Given the description of an element on the screen output the (x, y) to click on. 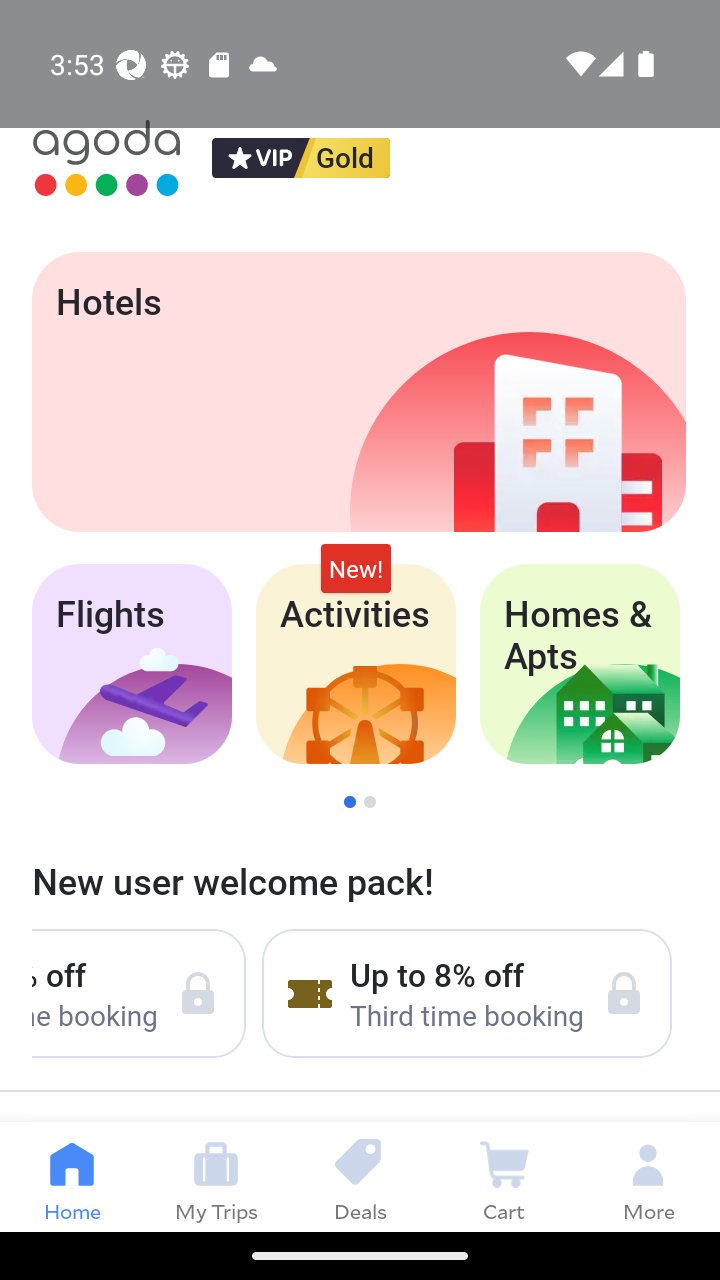
Hotels (358, 392)
New! (355, 568)
Flights (131, 664)
Activities (355, 664)
Homes & Apts (579, 664)
Home (72, 1176)
My Trips (216, 1176)
Deals (360, 1176)
Cart (504, 1176)
More (648, 1176)
